Given the description of an element on the screen output the (x, y) to click on. 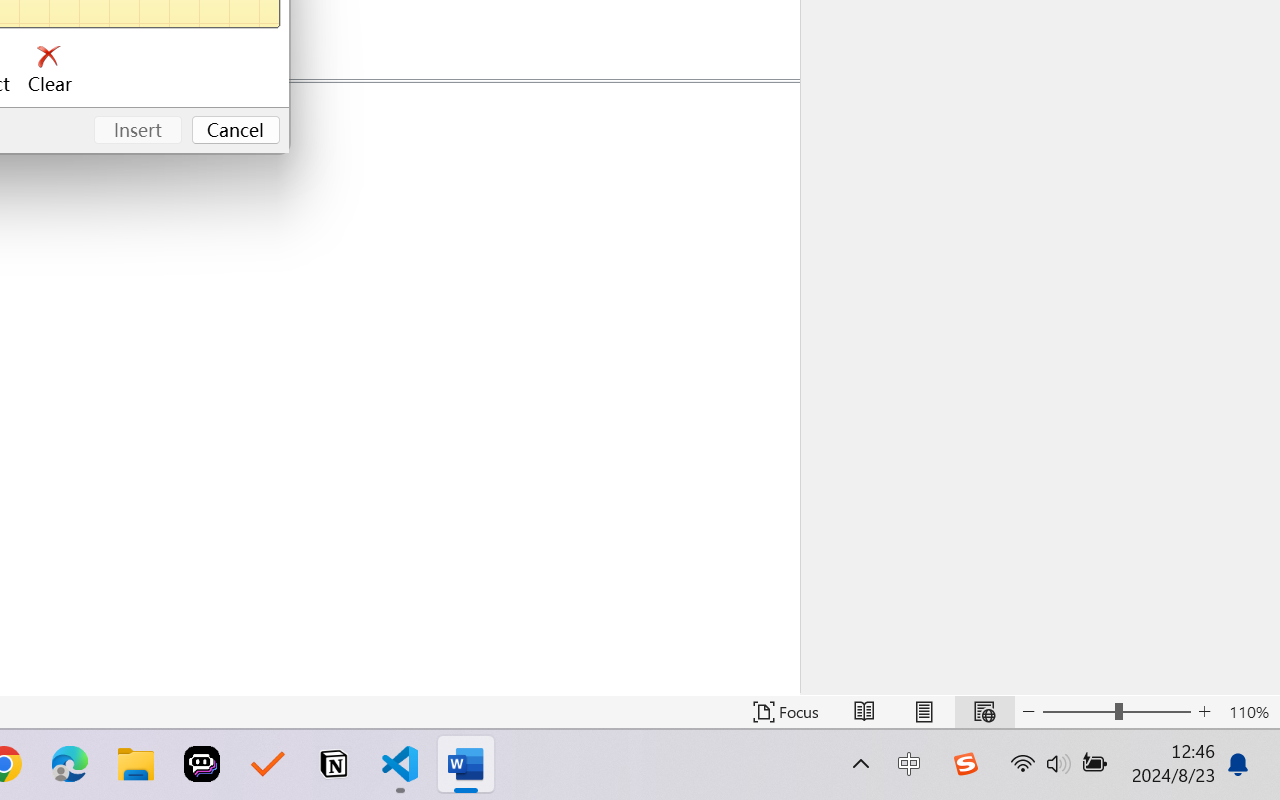
Clear (49, 69)
Microsoft Edge (69, 764)
